Given the description of an element on the screen output the (x, y) to click on. 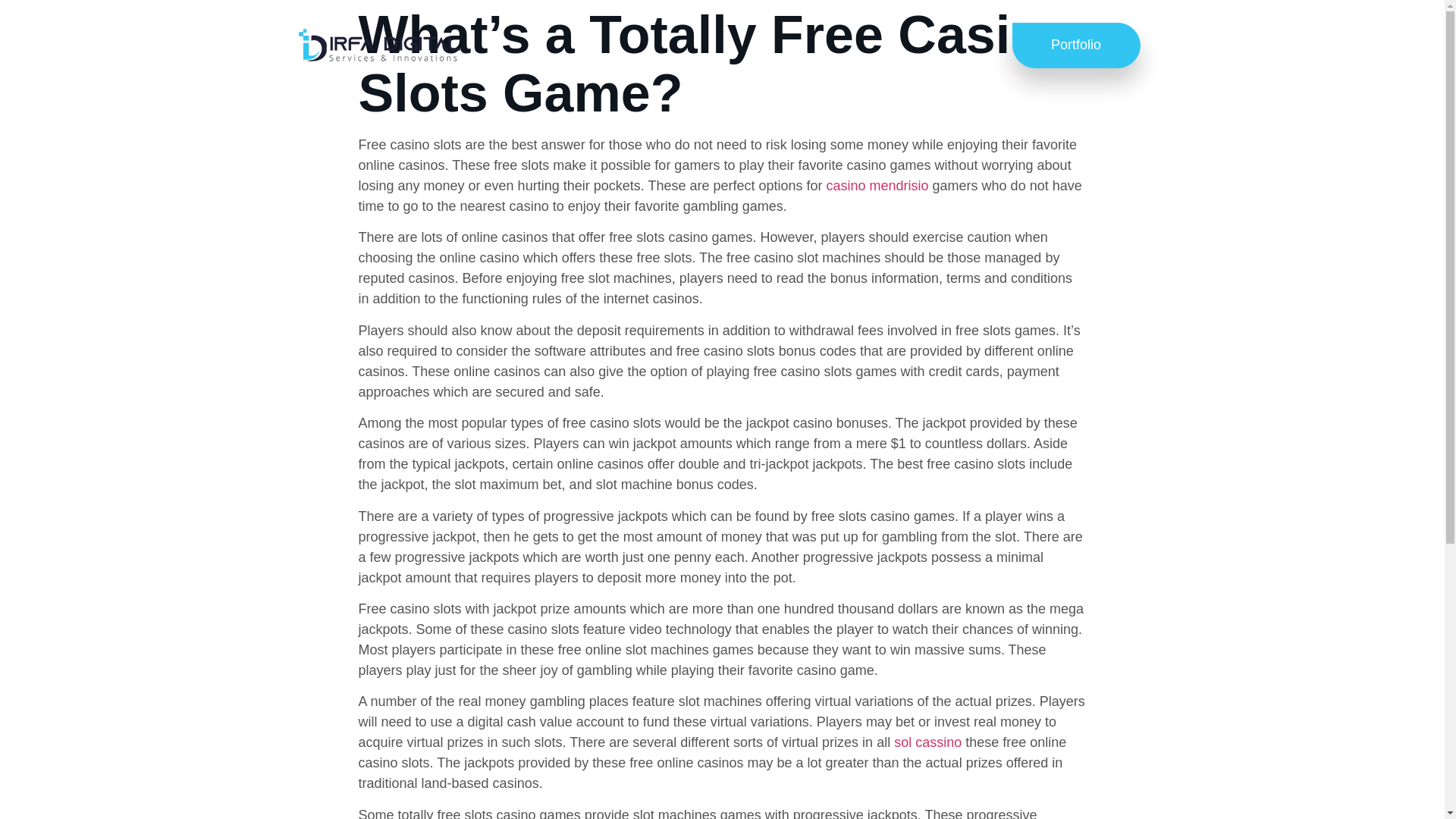
sol cassino (926, 742)
casino mendrisio (877, 185)
Portfolio (1075, 44)
